Given the description of an element on the screen output the (x, y) to click on. 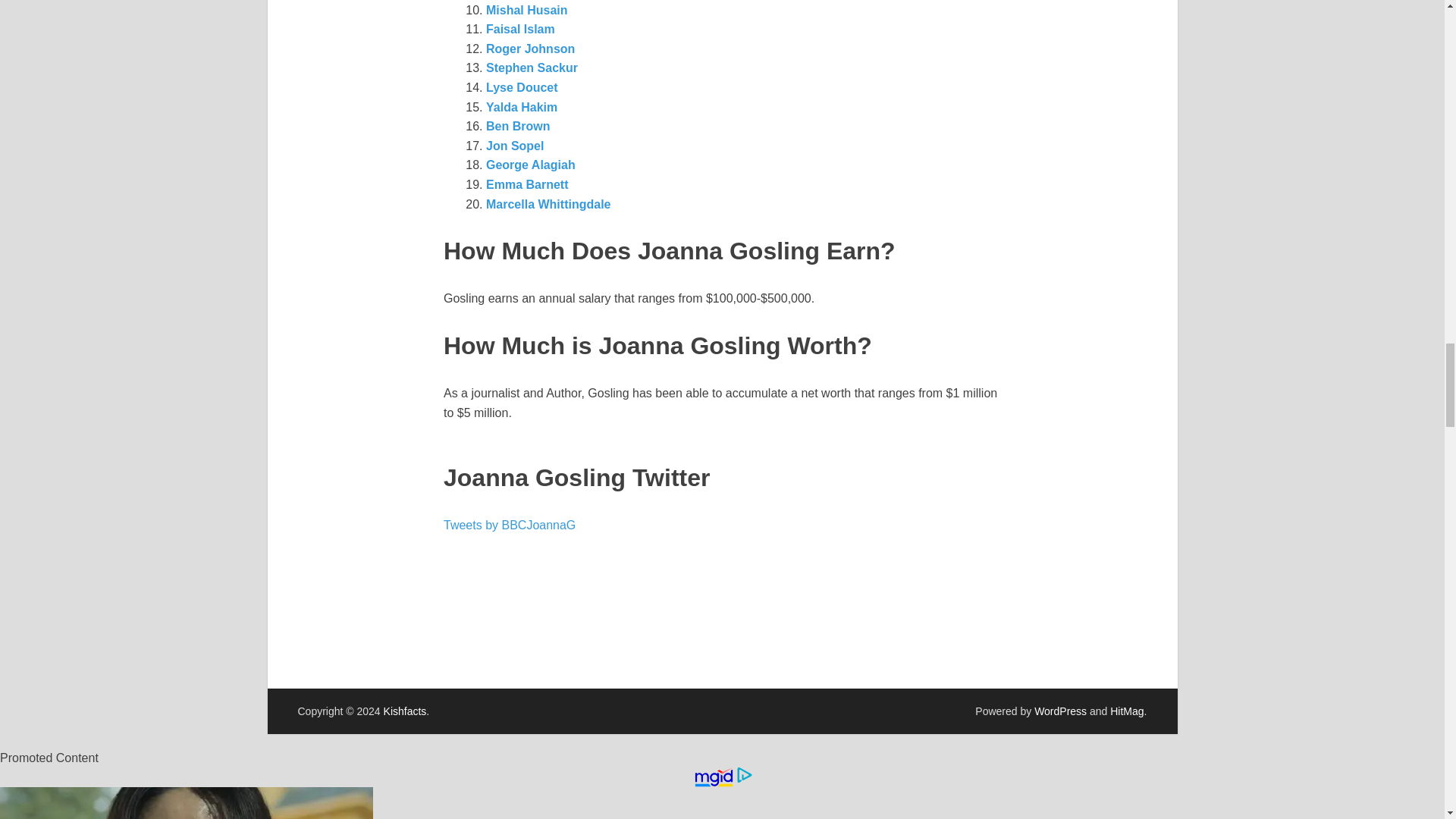
Jon Sopel (514, 145)
WordPress (1059, 711)
Faisal Islam (520, 29)
Stephen Sackur (532, 67)
Kishfacts (405, 711)
Yalda Hakim (521, 106)
Kishfacts (405, 711)
HitMag WordPress Theme (1125, 711)
WordPress (1059, 711)
Emma Barnett  (529, 184)
Lyse Doucet (521, 87)
George Alagiah (530, 164)
Mishal Husain (526, 10)
Roger Johnson (530, 48)
HitMag (1125, 711)
